Given the description of an element on the screen output the (x, y) to click on. 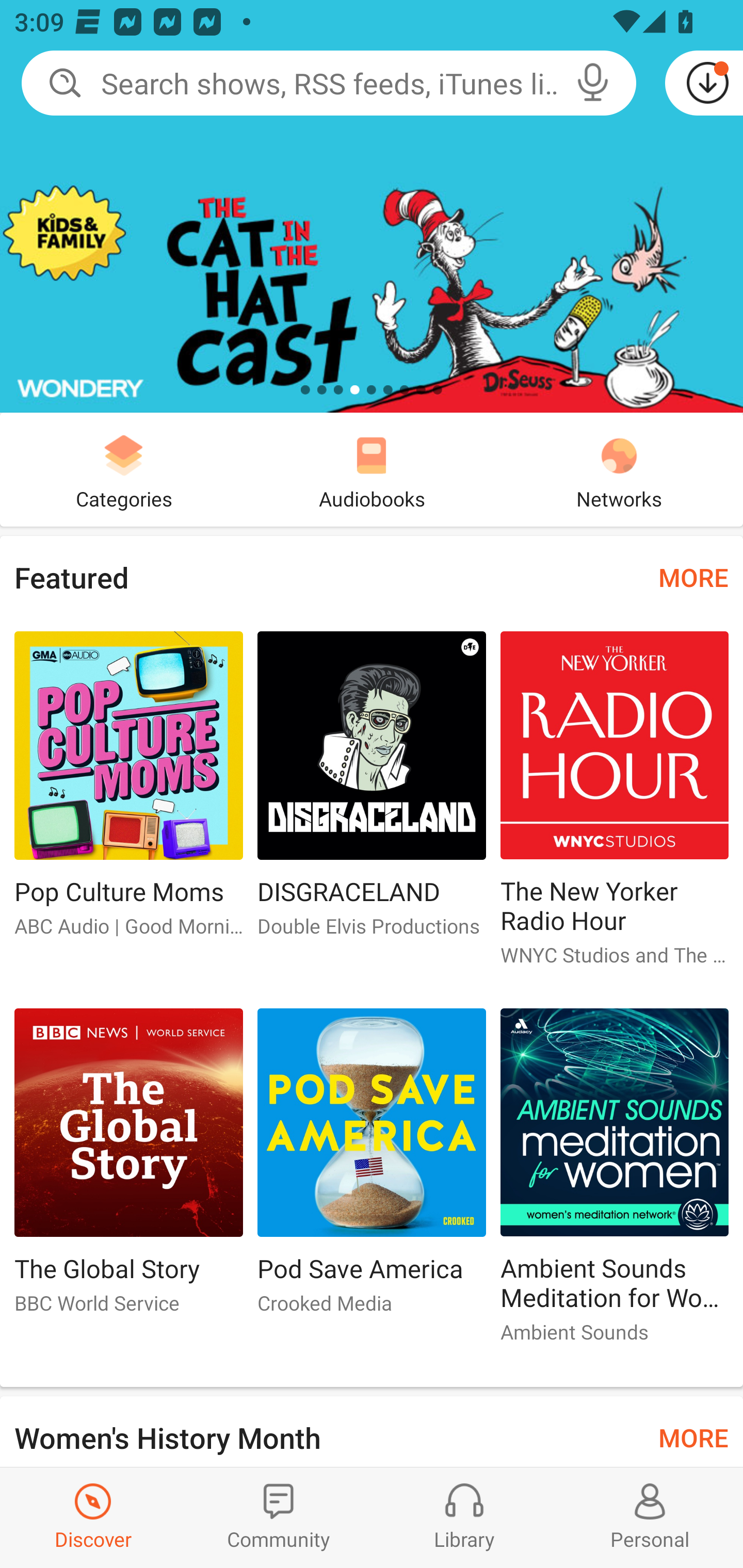
The Cat In The Hat Cast (371, 206)
Categories (123, 469)
Audiobooks (371, 469)
Networks (619, 469)
MORE (693, 576)
DISGRACELAND DISGRACELAND Double Elvis Productions (371, 792)
Pod Save America Pod Save America Crooked Media (371, 1169)
MORE (693, 1436)
Discover (92, 1517)
Community (278, 1517)
Library (464, 1517)
Profiles and Settings Personal (650, 1517)
